Given the description of an element on the screen output the (x, y) to click on. 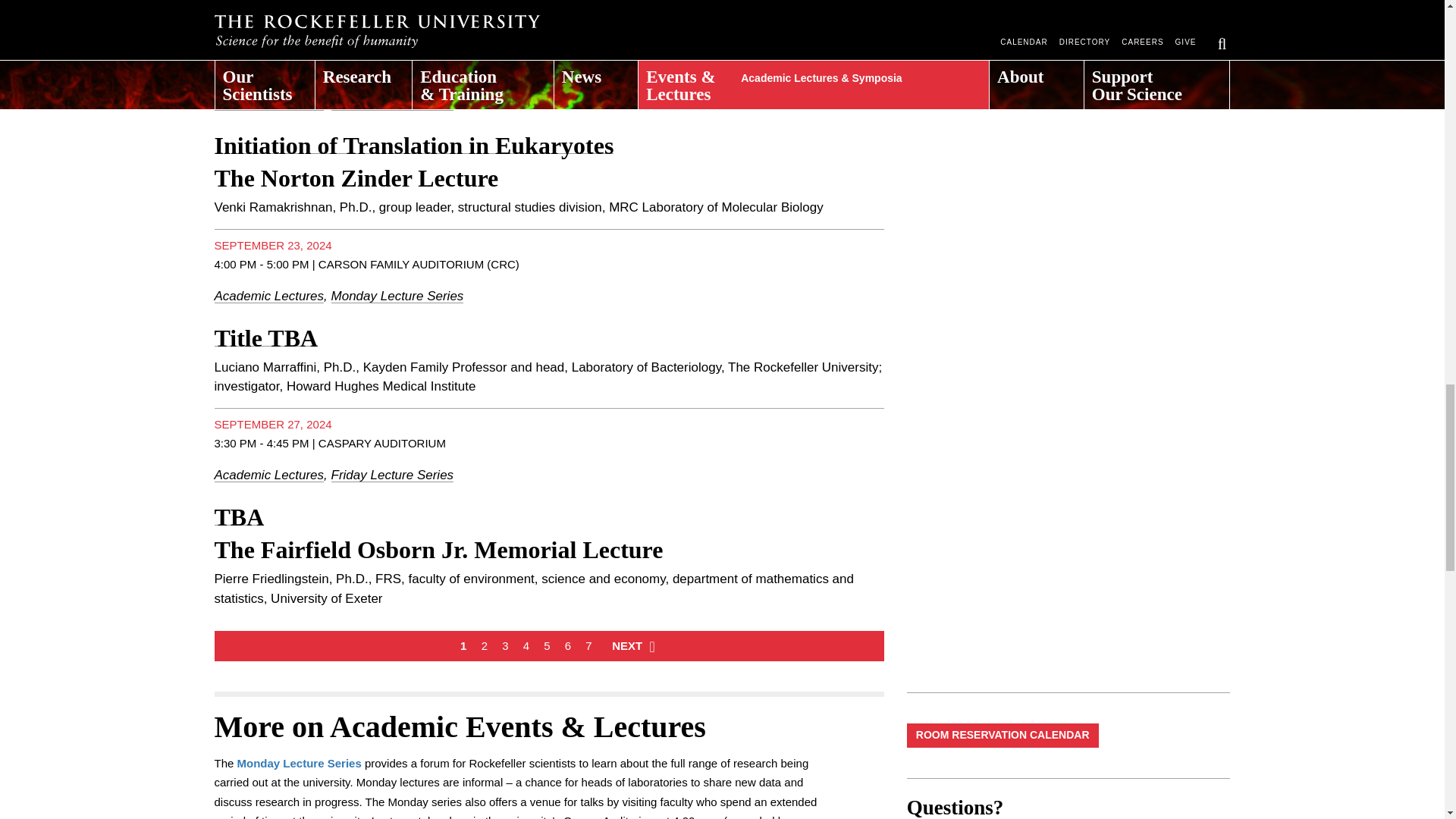
TBA (238, 516)
Title TBA (265, 338)
Initiation of Translation in Eukaryotes (413, 144)
